Given the description of an element on the screen output the (x, y) to click on. 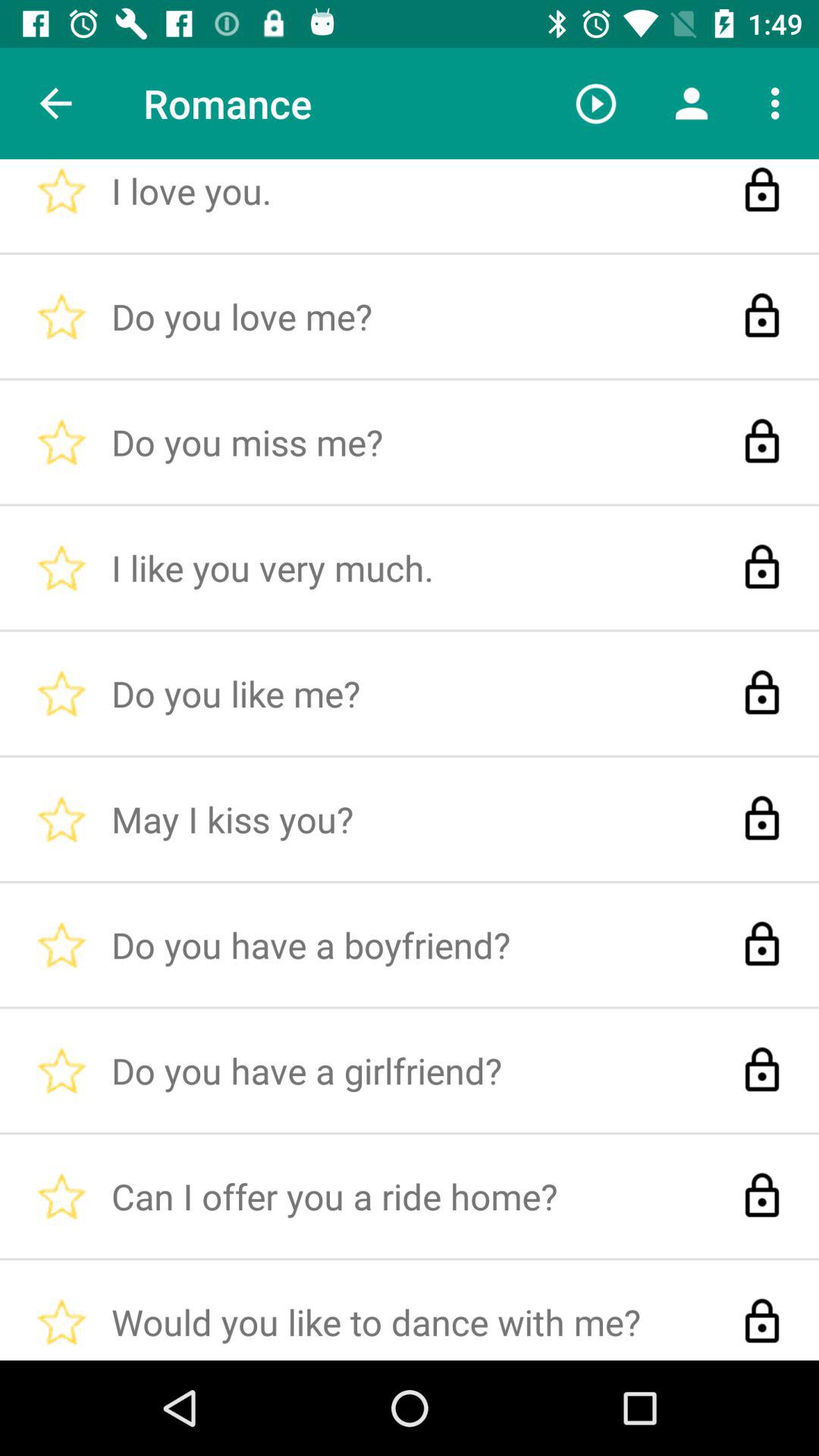
select the item next to the i love you. item (55, 103)
